Given the description of an element on the screen output the (x, y) to click on. 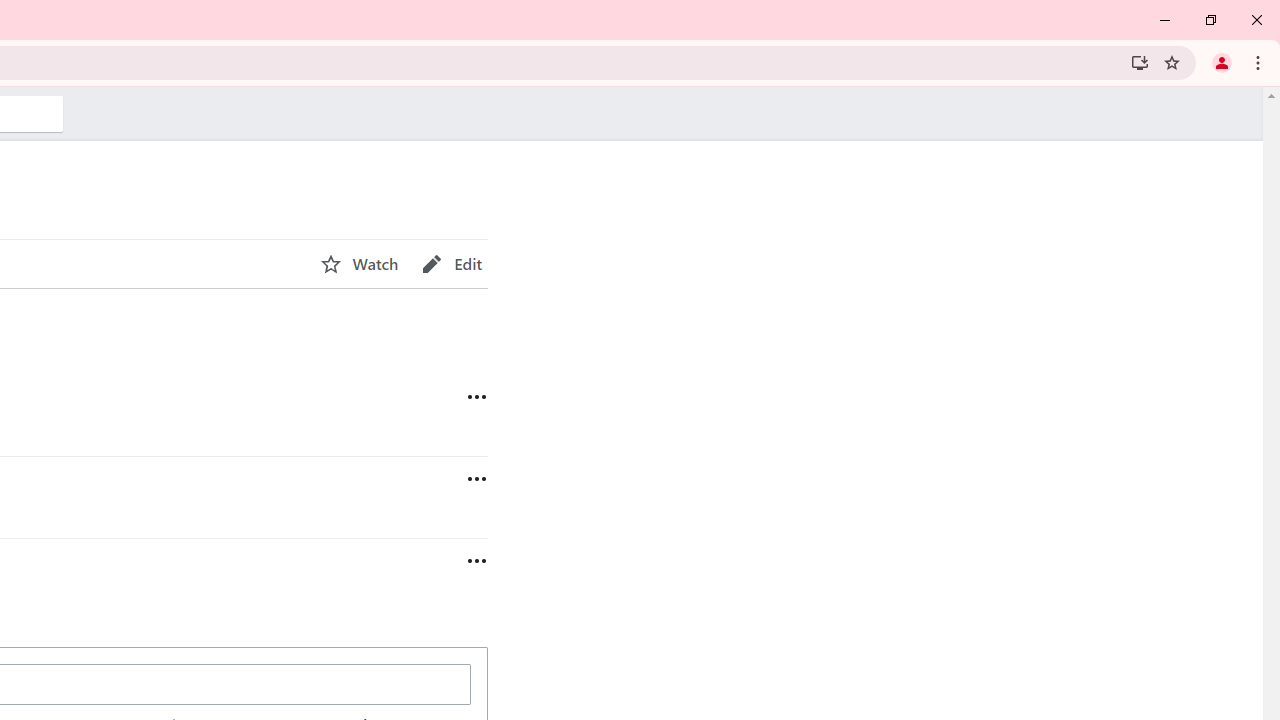
Install Wikipedia (1139, 62)
AutomationID: page-actions-watch (359, 263)
AutomationID: page-actions-edit (452, 263)
Edit (452, 264)
Watch (359, 264)
